Given the description of an element on the screen output the (x, y) to click on. 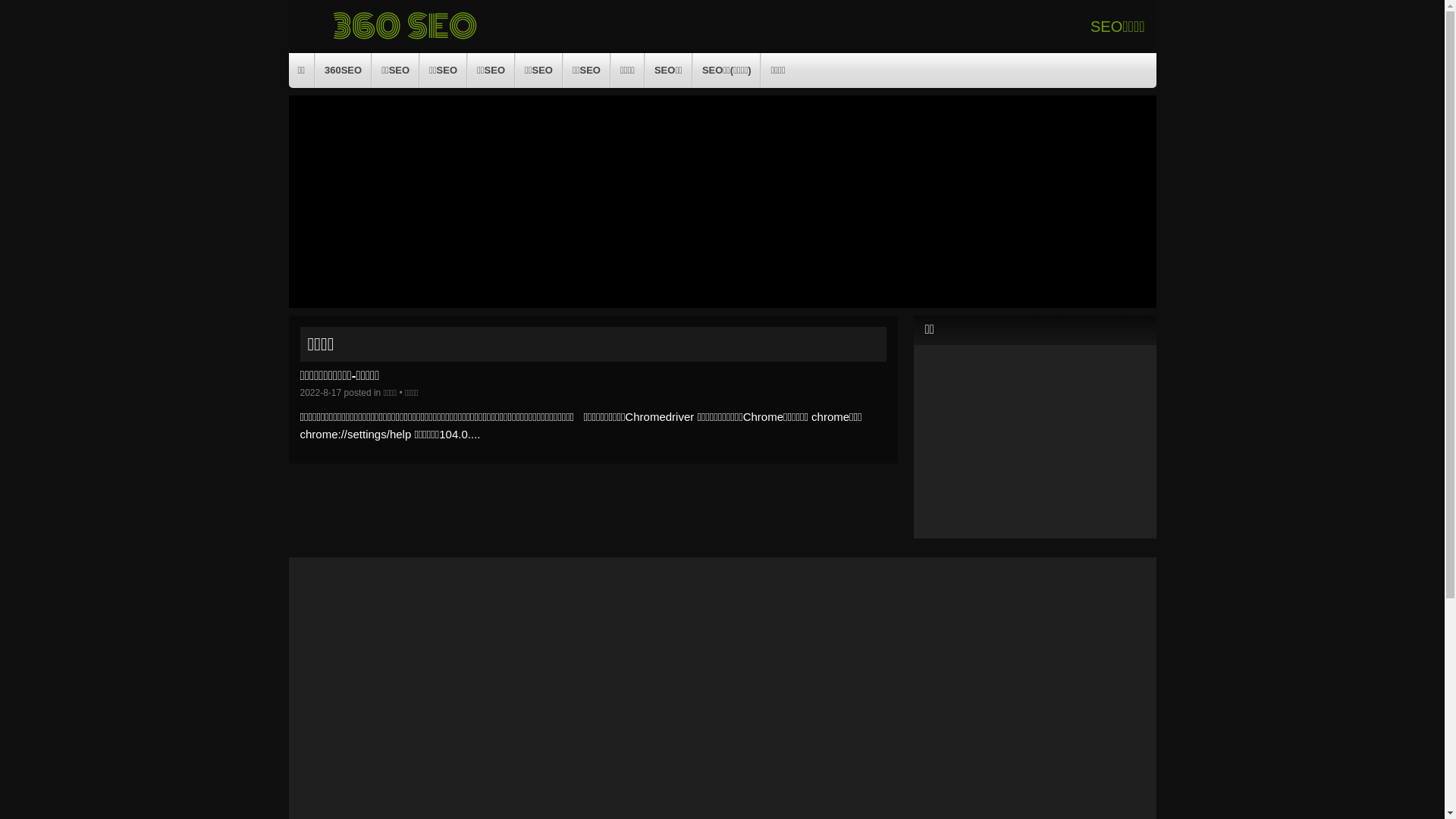
Advertisement Element type: hover (1034, 439)
360SEO Element type: text (342, 70)
Advertisement Element type: hover (721, 201)
